Given the description of an element on the screen output the (x, y) to click on. 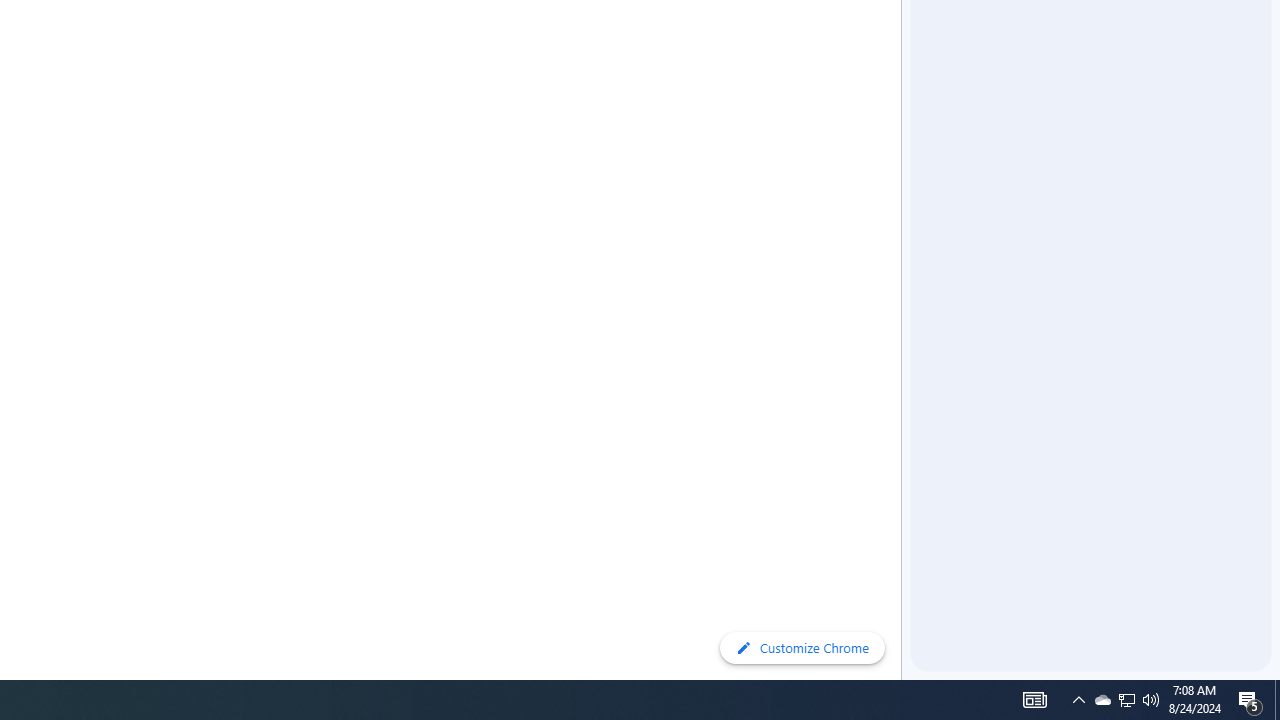
Side Panel Resize Handle (905, 39)
